Given the description of an element on the screen output the (x, y) to click on. 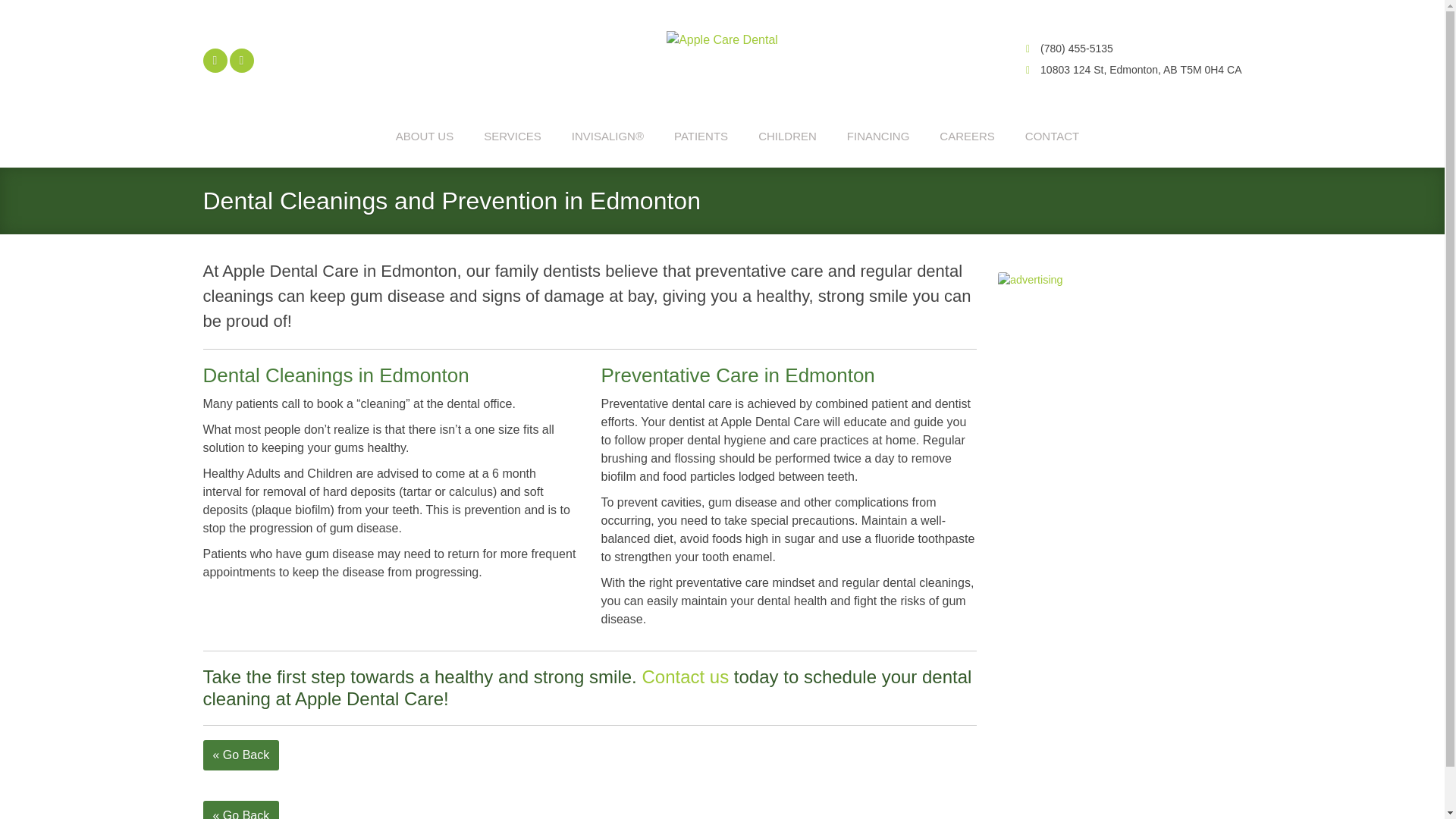
New Patients at Apple Dental Care (701, 136)
Invisalign Clear Aligners (607, 136)
CAREERS (966, 136)
PATIENTS (701, 136)
FINANCING (878, 136)
About Apple Dental Care (424, 136)
CHILDREN (787, 136)
ABOUT US (424, 136)
Our Family Services (512, 136)
CONTACT (1051, 136)
